Given the description of an element on the screen output the (x, y) to click on. 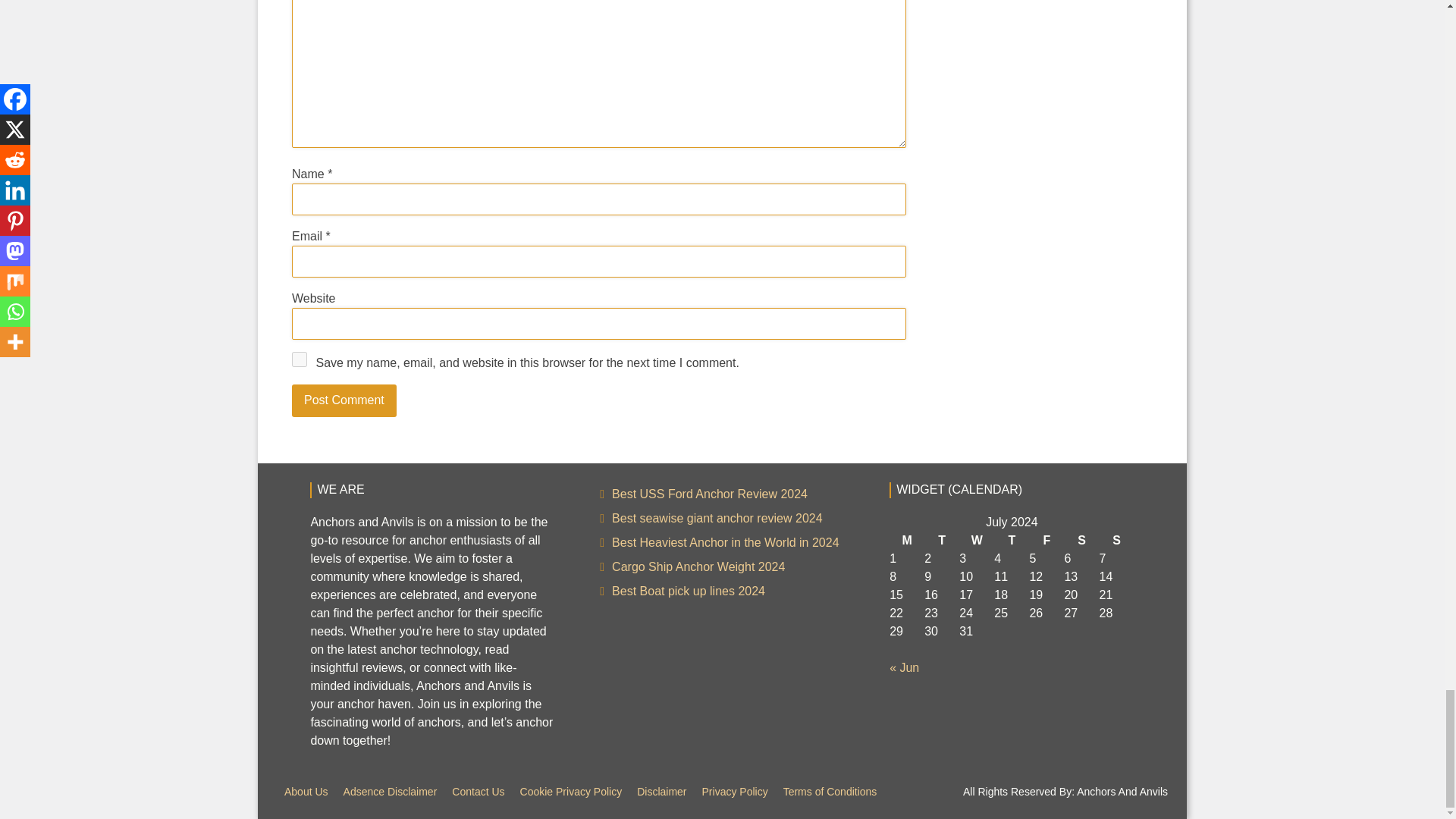
Post Comment (344, 400)
yes (299, 359)
